Given the description of an element on the screen output the (x, y) to click on. 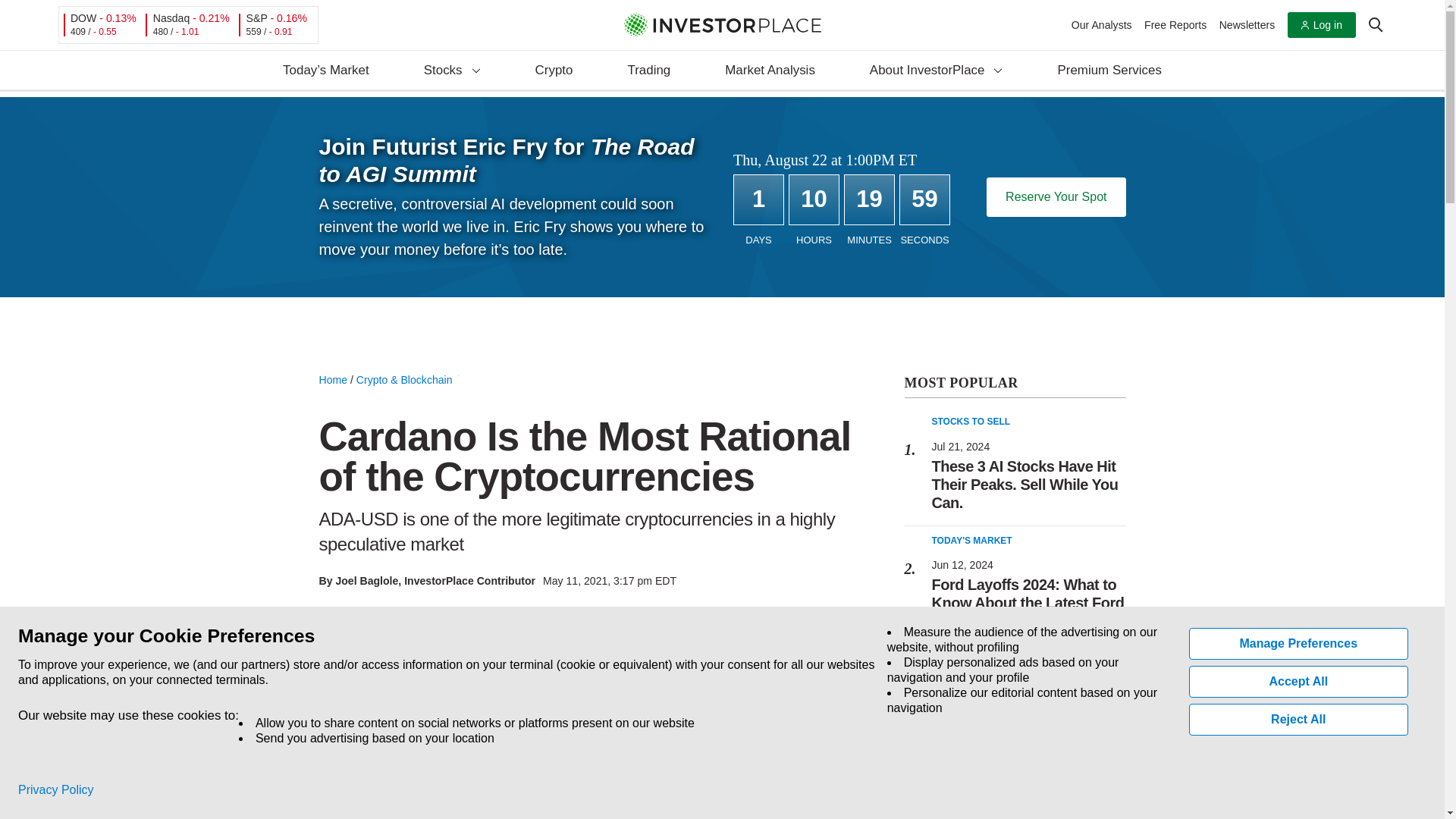
Nasdaq (171, 18)
Log in (1321, 25)
Manage Preferences (1299, 644)
Reject All (1299, 719)
Our Analysts (1101, 24)
Free Reports (1175, 24)
Stocks (452, 70)
Newsletters (1247, 24)
DOW (82, 18)
Accept All (1299, 681)
